Given the description of an element on the screen output the (x, y) to click on. 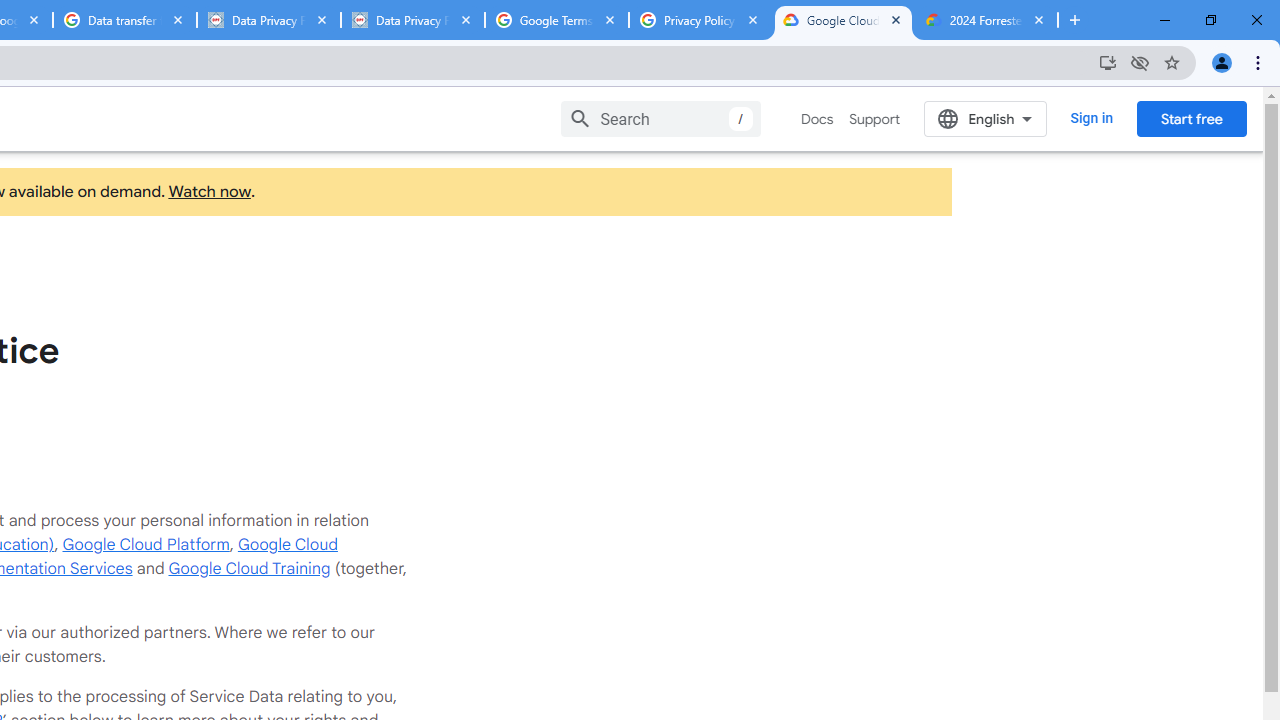
English (985, 118)
Install Google Cloud (1107, 62)
Watch now (208, 192)
Docs (817, 119)
Support (874, 119)
